Given the description of an element on the screen output the (x, y) to click on. 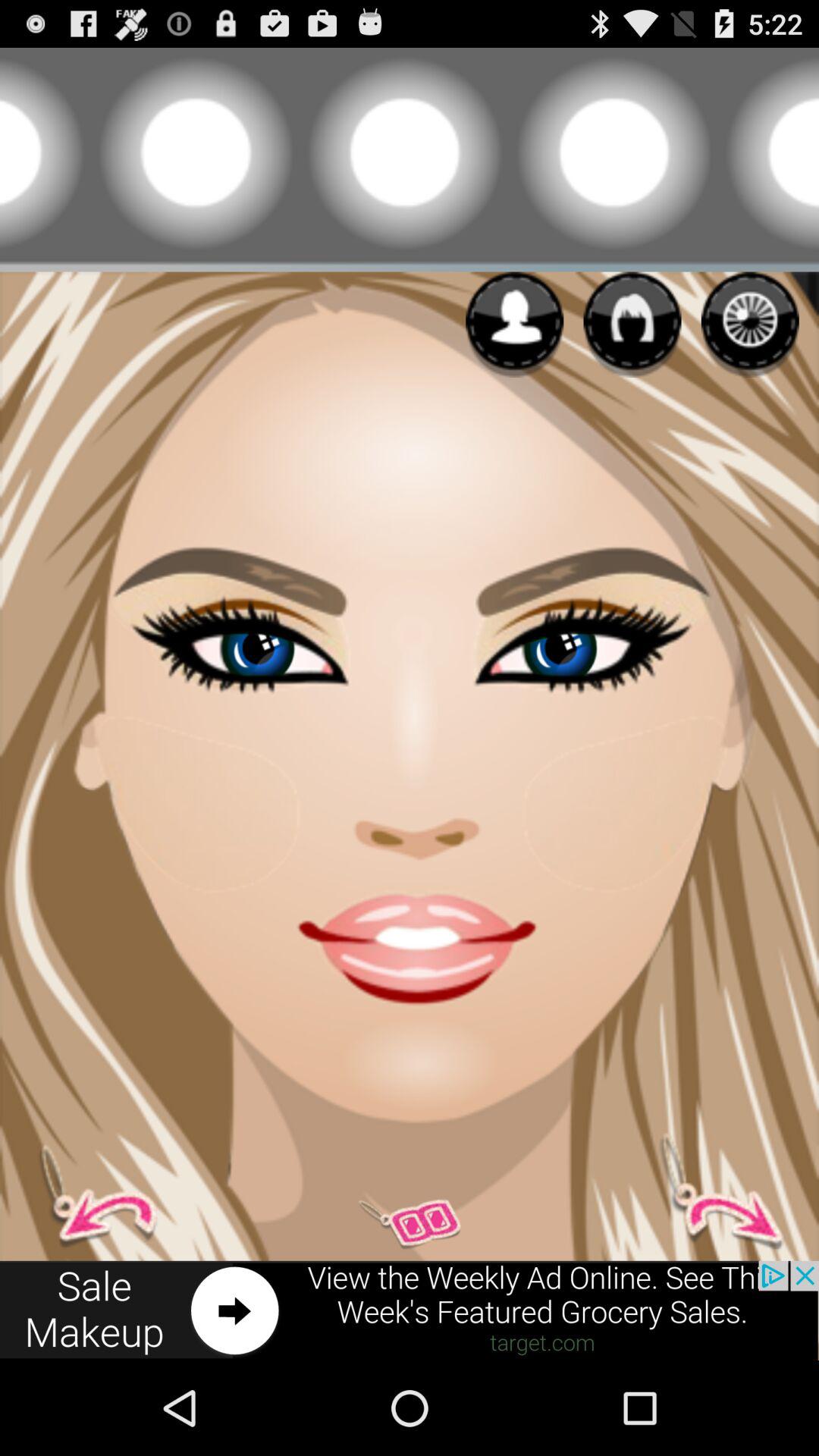
click on the icon on bottom right of the page (711, 1191)
select third icon which is on the right side of the page (750, 324)
click on the right first icon (514, 324)
